Given the description of an element on the screen output the (x, y) to click on. 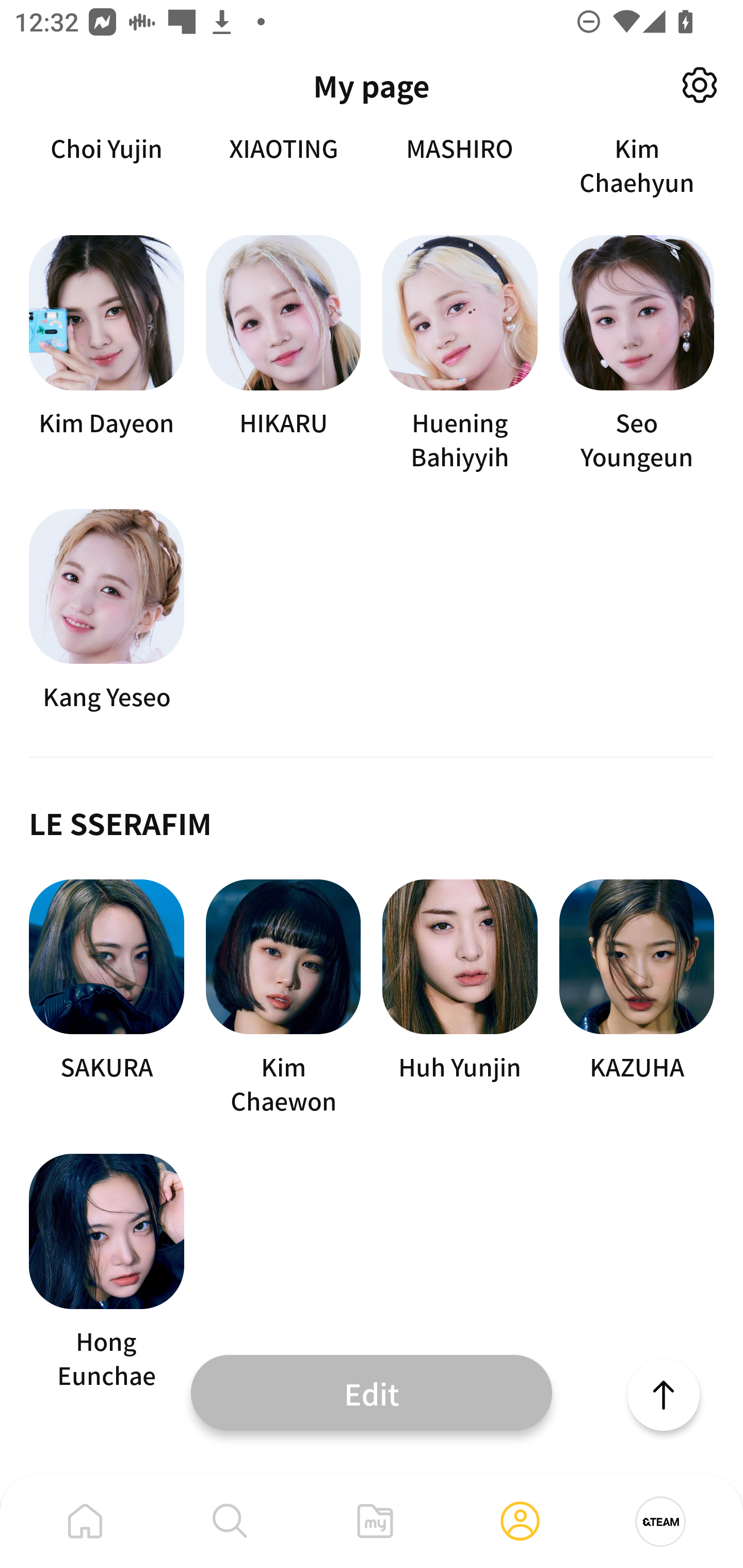
Kim Dayeon (106, 354)
HIKARU (282, 354)
Huening Bahiyyih (459, 354)
Seo Youngeun (636, 354)
Kang Yeseo (106, 611)
SAKURA (106, 997)
Kim Chaewon (282, 997)
Huh Yunjin (459, 997)
KAZUHA (636, 997)
Hong Eunchae (106, 1273)
Edit (371, 1392)
